Given the description of an element on the screen output the (x, y) to click on. 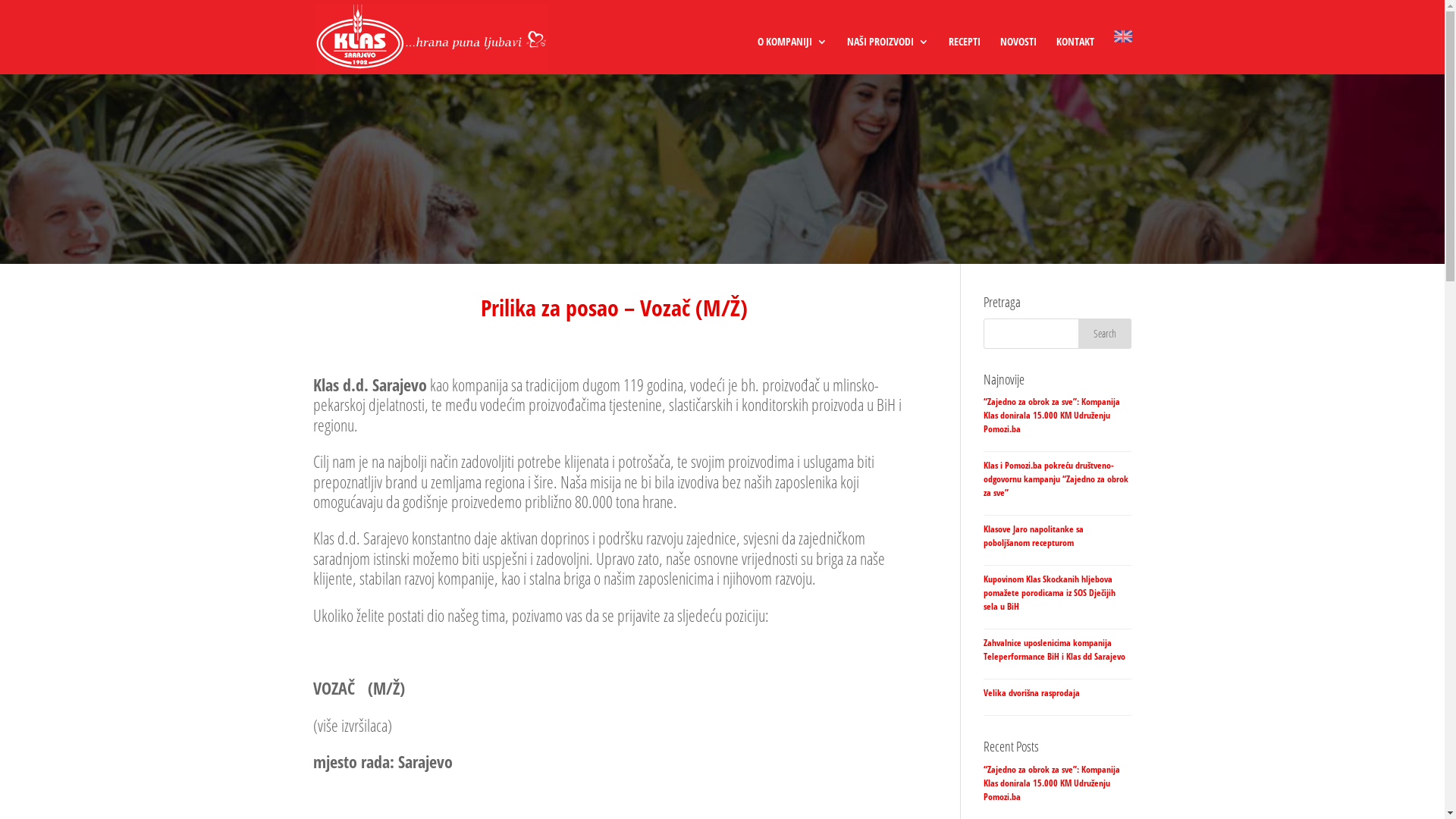
RECEPTI Element type: text (963, 55)
Search Element type: text (1104, 333)
KONTAKT Element type: text (1074, 55)
O KOMPANIJI Element type: text (791, 55)
NOVOSTI Element type: text (1017, 55)
